Given the description of an element on the screen output the (x, y) to click on. 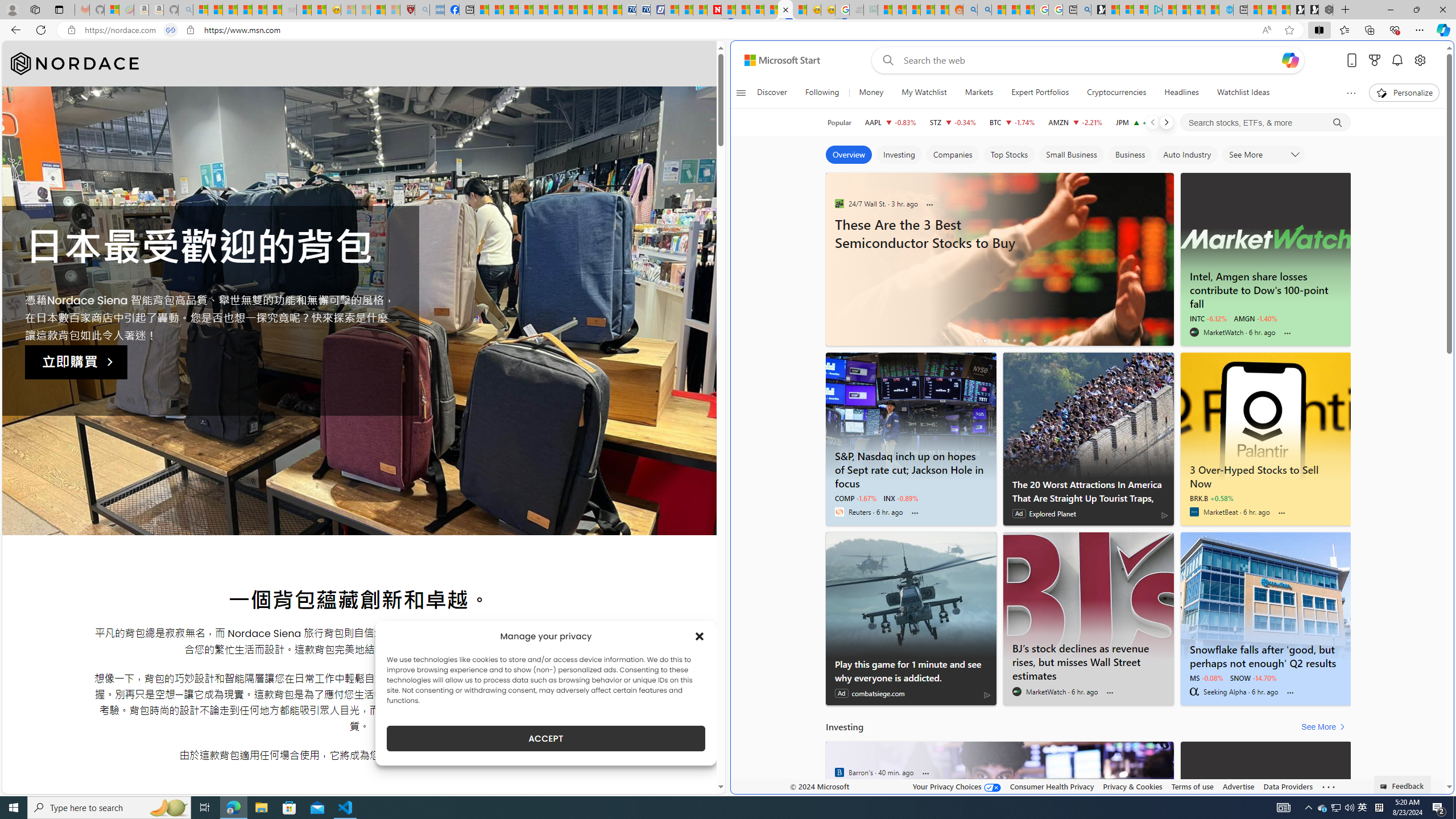
12 Popular Science Lies that Must be Corrected - Sleeping (392, 9)
Seeking Alpha (1193, 691)
Companies (952, 154)
Data Providers (1288, 785)
